Given the description of an element on the screen output the (x, y) to click on. 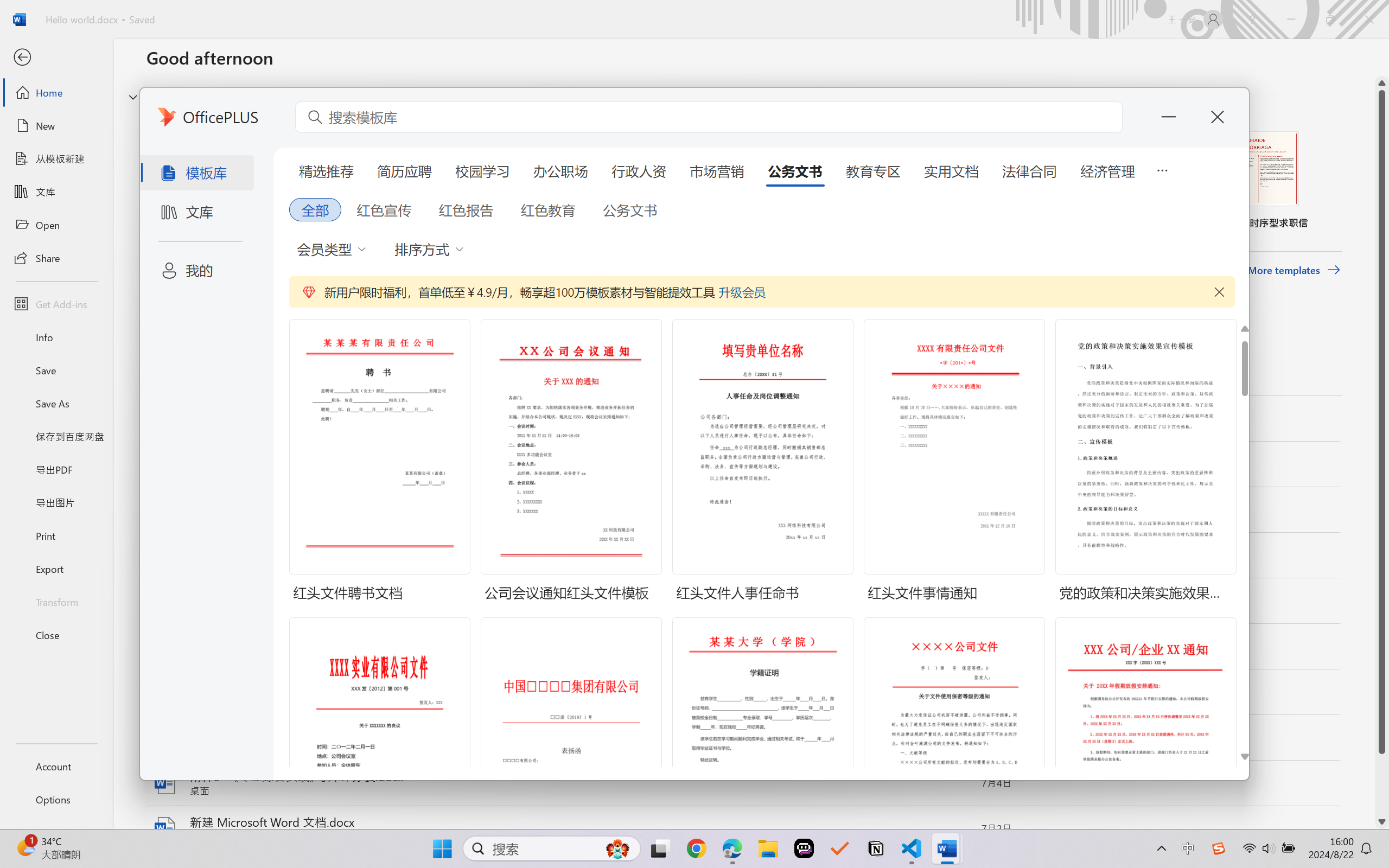
AutomationID: BadgeAnchorLargeTicker (24, 847)
Notion (875, 848)
Visual Studio 2022 (31, 276)
